Given the description of an element on the screen output the (x, y) to click on. 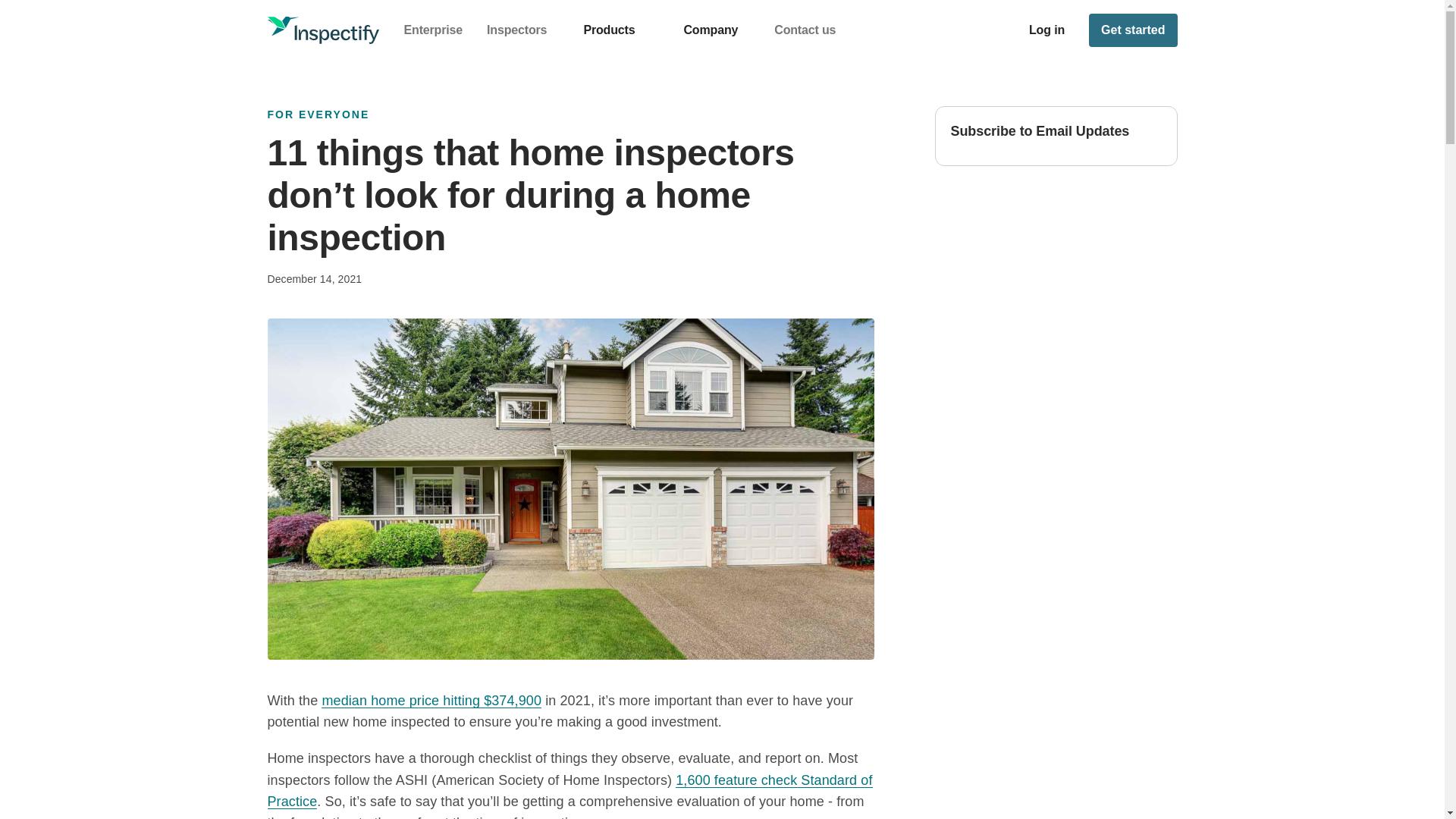
Inspectors (516, 29)
1,600 feature check Standard of Practice (569, 791)
Contact us (804, 29)
Get started (1132, 29)
Enterprise (433, 29)
